Given the description of an element on the screen output the (x, y) to click on. 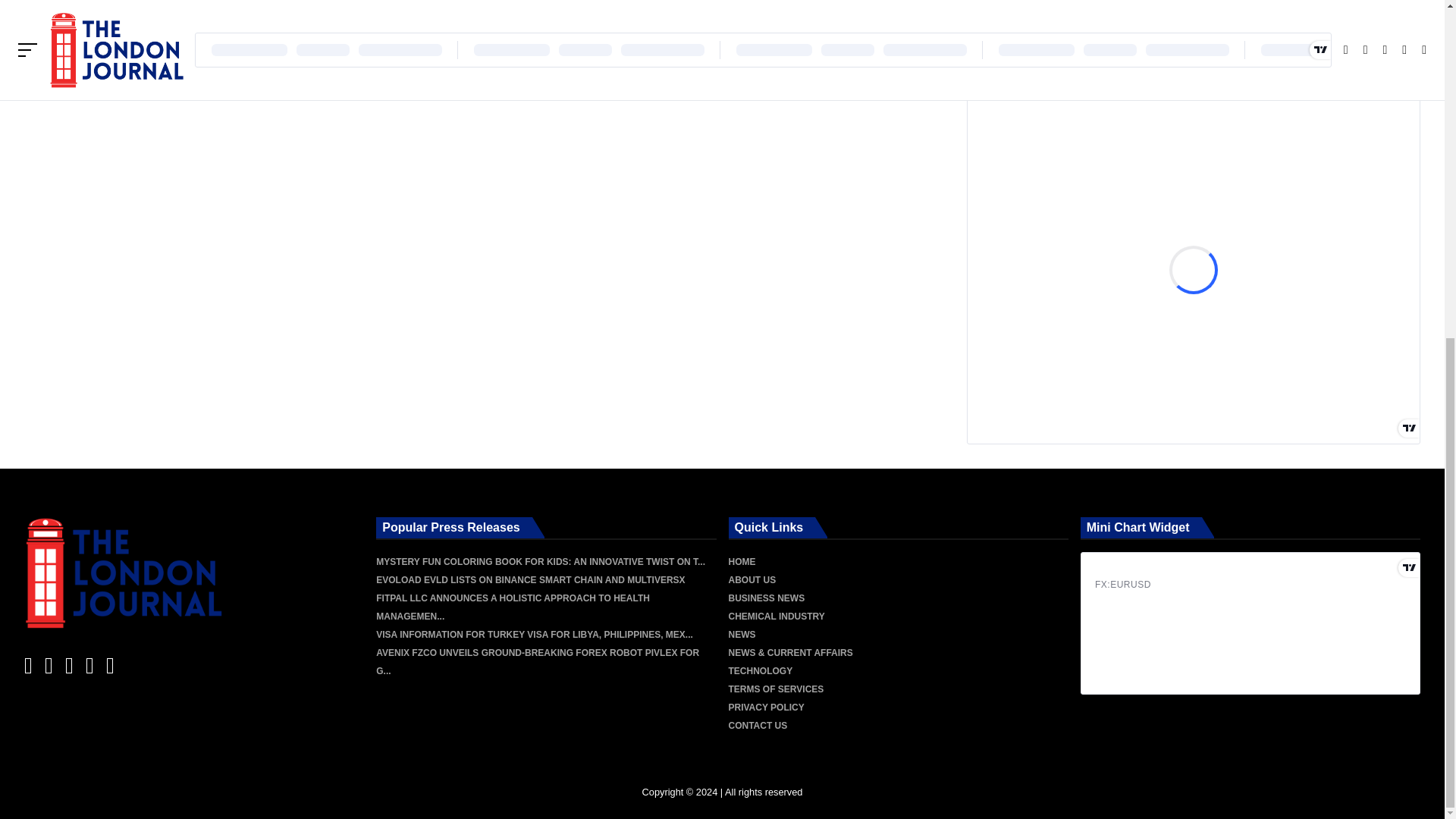
EVOLOAD EVLD LISTS ON BINANCE SMART CHAIN AND MULTIVERSX (529, 579)
Evoload EVLD Lists on Binance Smart Chain and MultiversX (529, 579)
ABOUT US (752, 579)
BUSINESS NEWS (766, 597)
CHEMICAL INDUSTRY (776, 615)
mini symbol-overview TradingView widget (1250, 623)
NEWS (741, 634)
HOME (741, 561)
PRIVACY POLICY (765, 706)
